Given the description of an element on the screen output the (x, y) to click on. 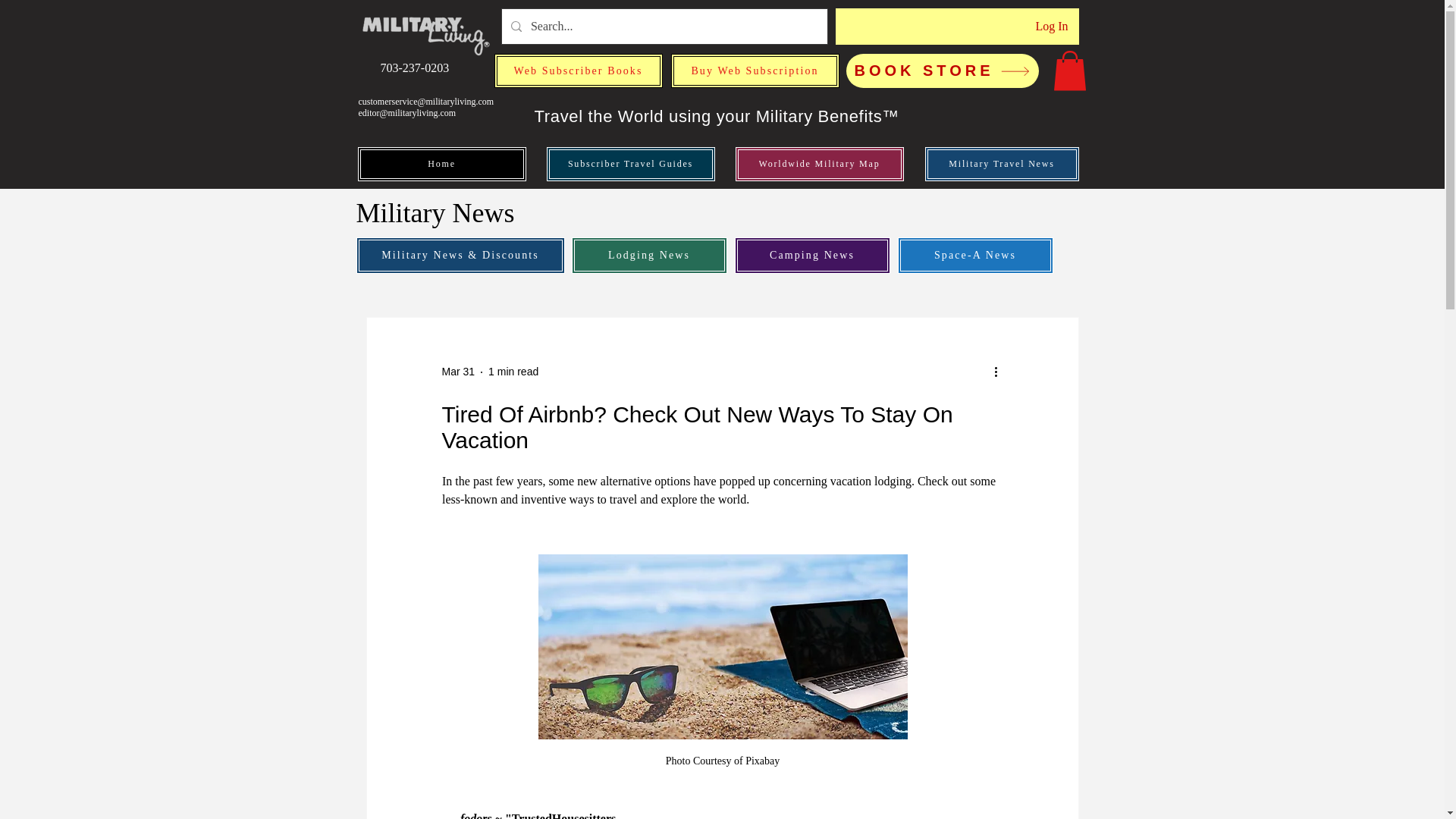
Home (441, 163)
Worldwide Military Map (819, 163)
BOOK STORE (942, 70)
Subscriber Travel Guides (630, 163)
Military Travel News (1001, 163)
Log In (1051, 26)
1 min read (512, 371)
Mar 31 (457, 371)
Camping News (811, 255)
Space-A News (975, 255)
